Given the description of an element on the screen output the (x, y) to click on. 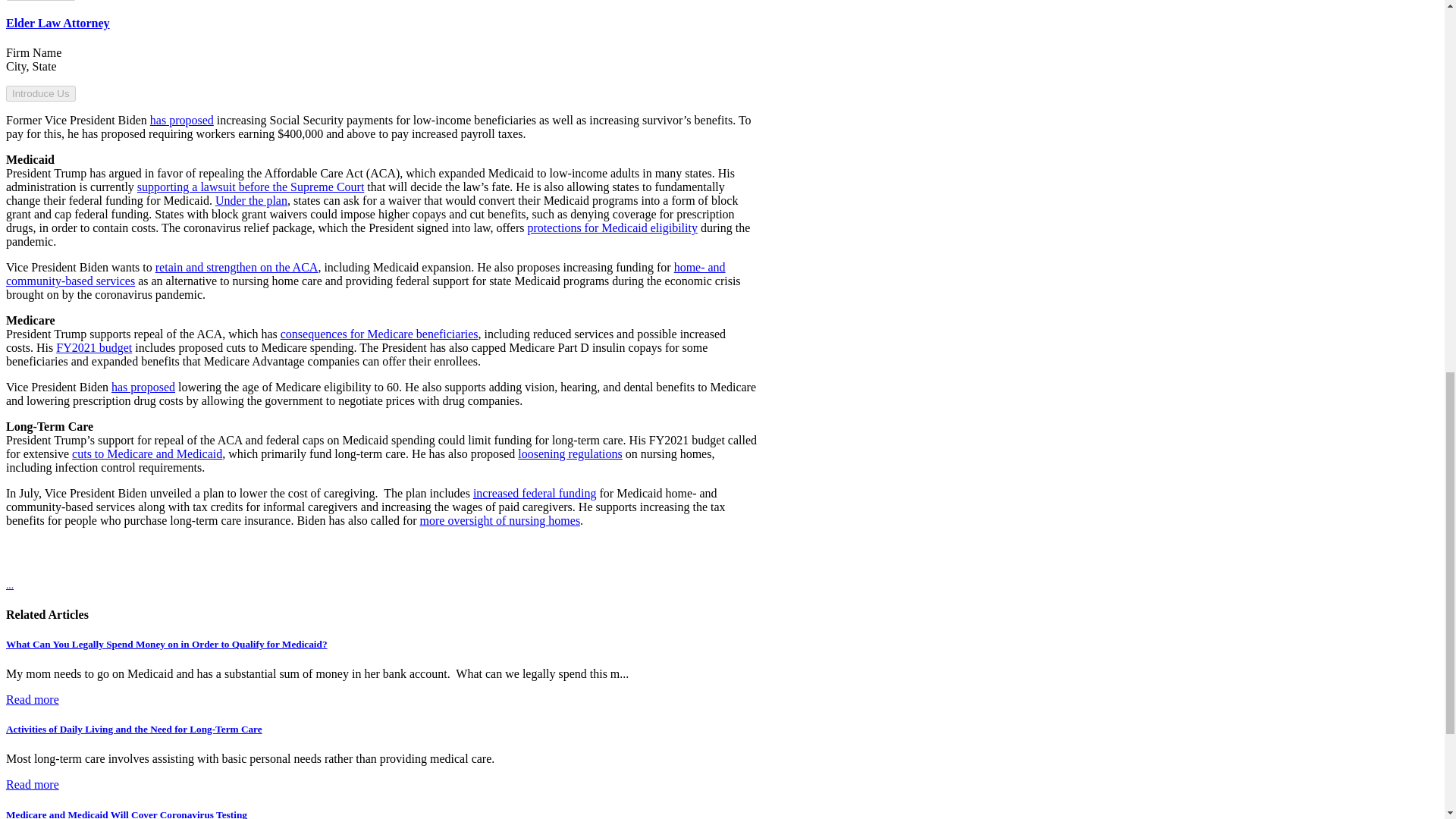
has proposed (143, 386)
FY2021 budget (94, 347)
home- and community-based services (365, 274)
Under the plan (250, 200)
Introduce Us (40, 93)
consequences for Medicare beneficiaries (380, 333)
Elder Law Attorney (57, 22)
Activities of Daily Living and the Need for Long-Term Care  (32, 784)
Activities of Daily Living and the Need for Long-Term Care  (133, 728)
protections for Medicaid eligibility (612, 227)
cuts to Medicare and Medicaid (146, 453)
supporting a lawsuit before the Supreme Court (250, 186)
retain and strengthen on the ACA (236, 267)
